Given the description of an element on the screen output the (x, y) to click on. 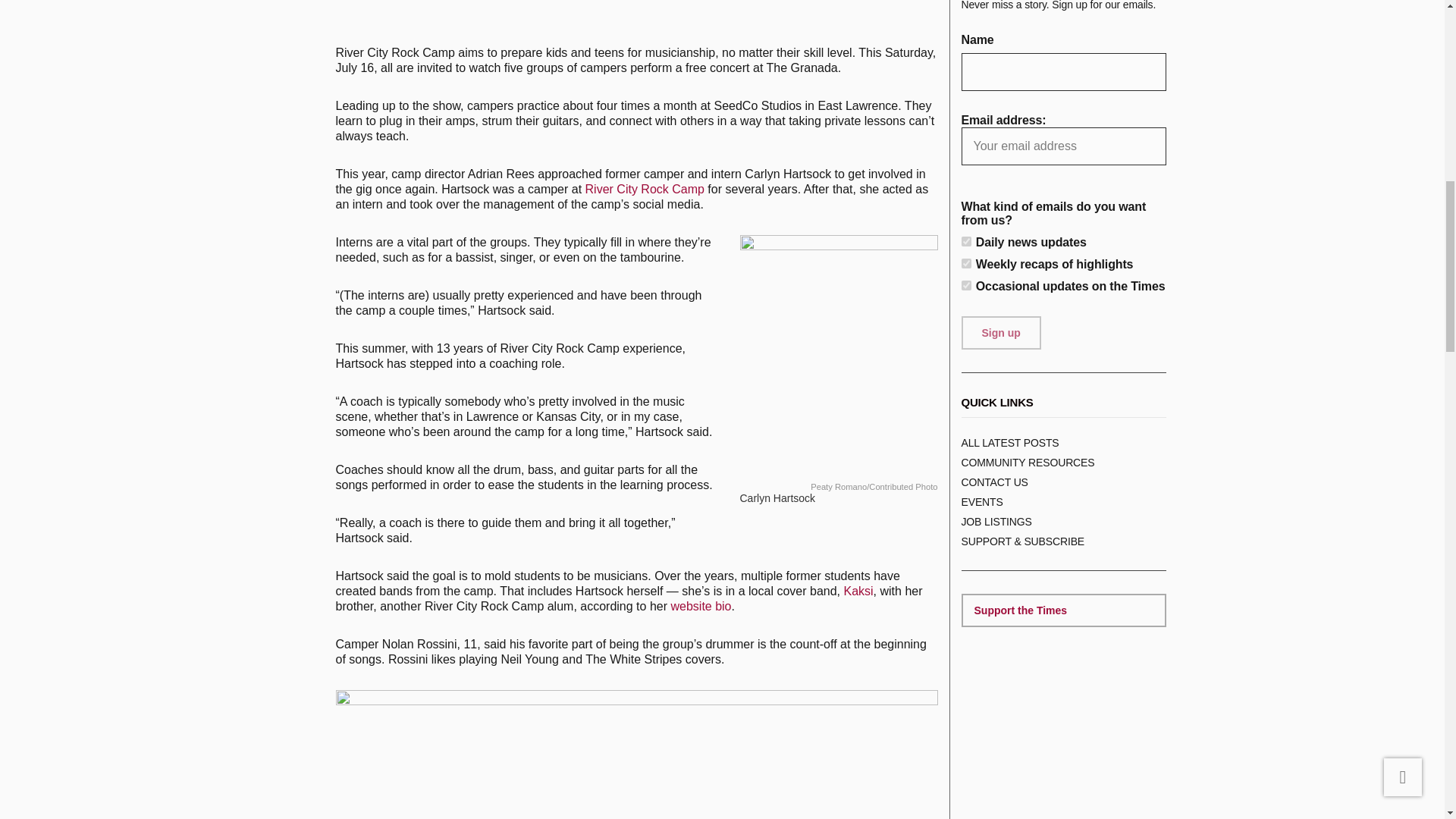
3692fadf75 (965, 285)
77e972c902 (965, 263)
Sign up (1000, 332)
093199c2e9 (965, 241)
